Given the description of an element on the screen output the (x, y) to click on. 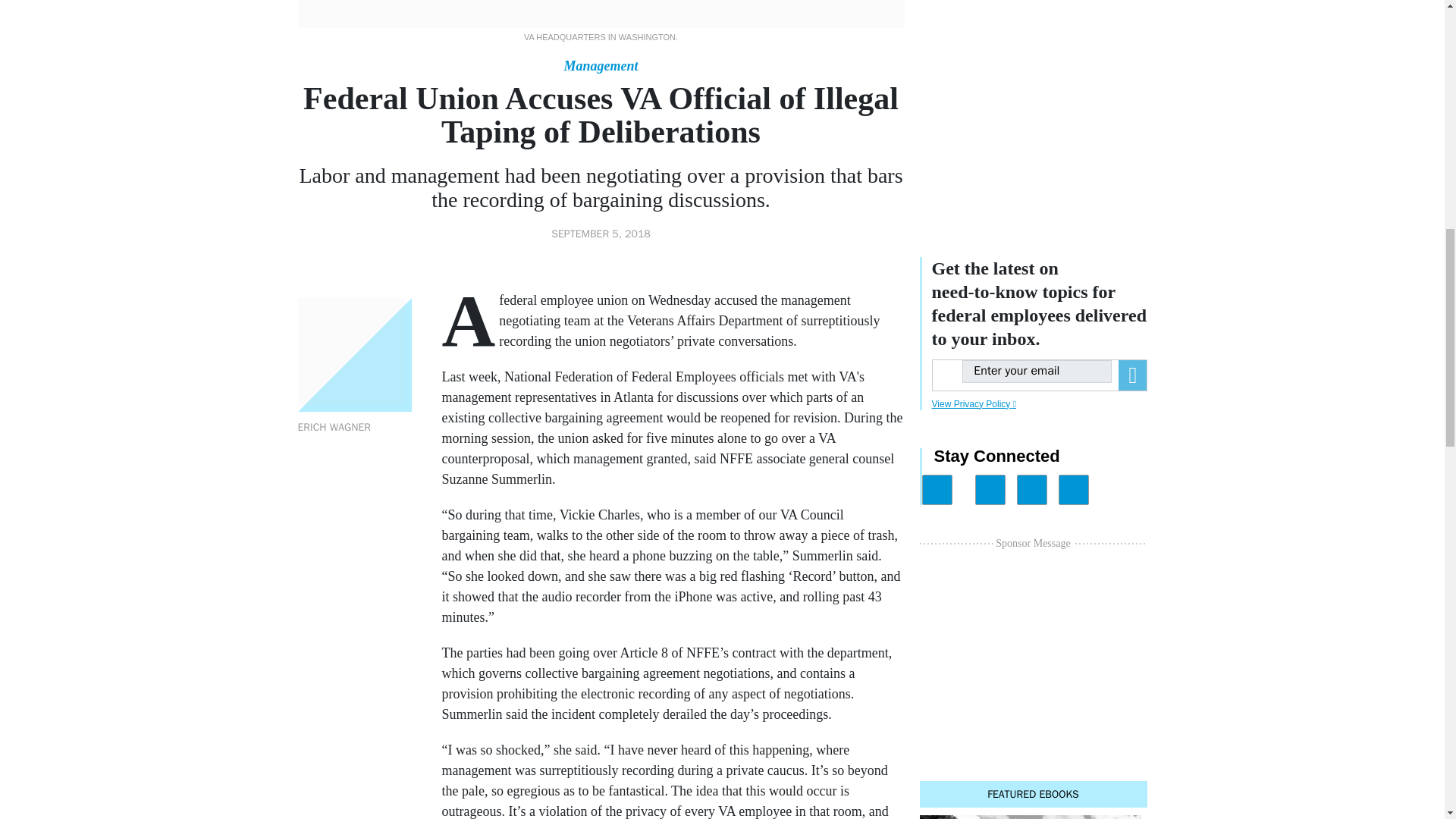
3rd party ad content (1032, 109)
3rd party ad content (1032, 647)
